Given the description of an element on the screen output the (x, y) to click on. 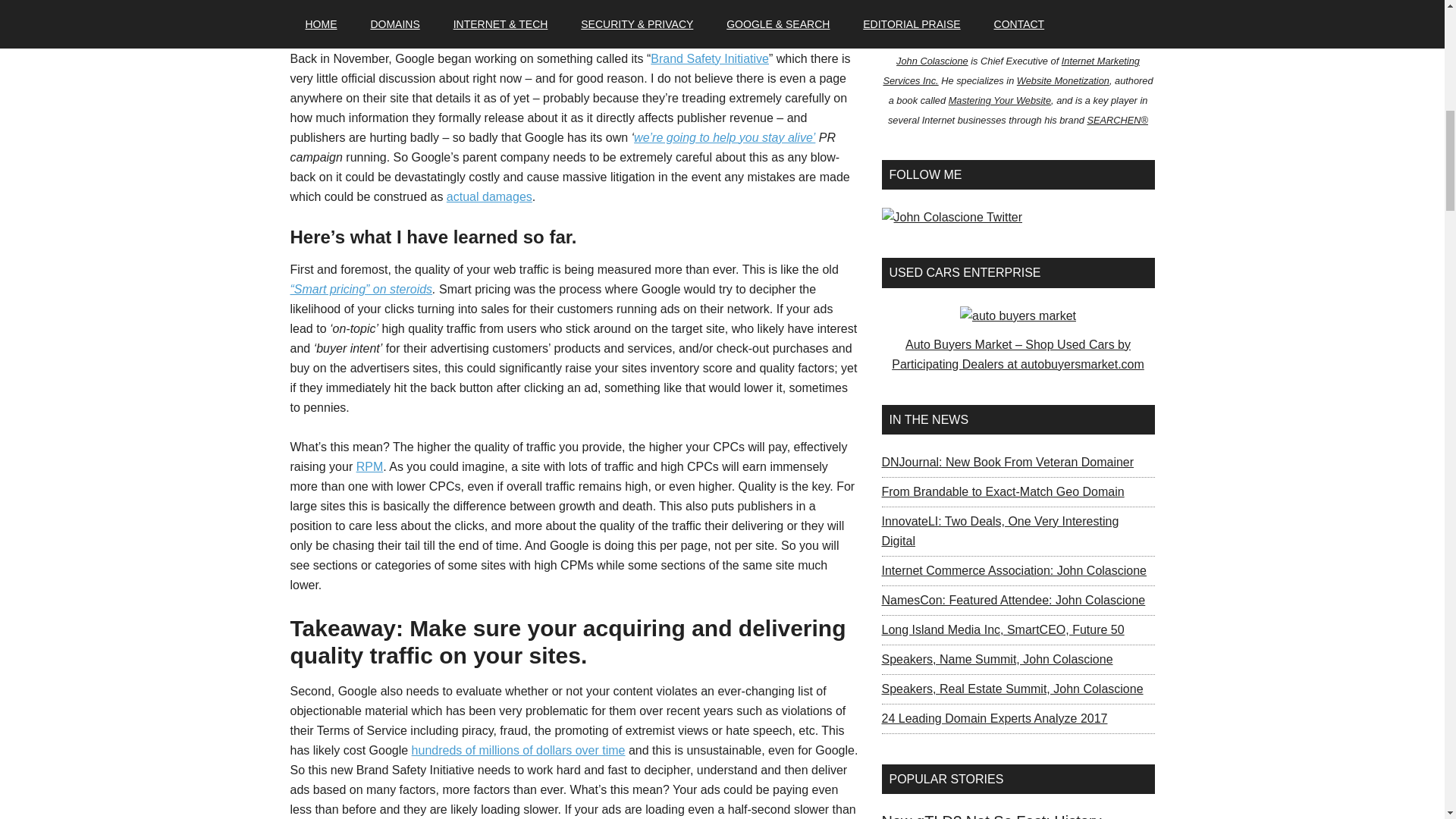
hundreds of millions of dollars over time (519, 749)
Brand Safety Initiative (709, 58)
actual damages (489, 196)
Fellow Me (951, 217)
RPM (370, 466)
